Given the description of an element on the screen output the (x, y) to click on. 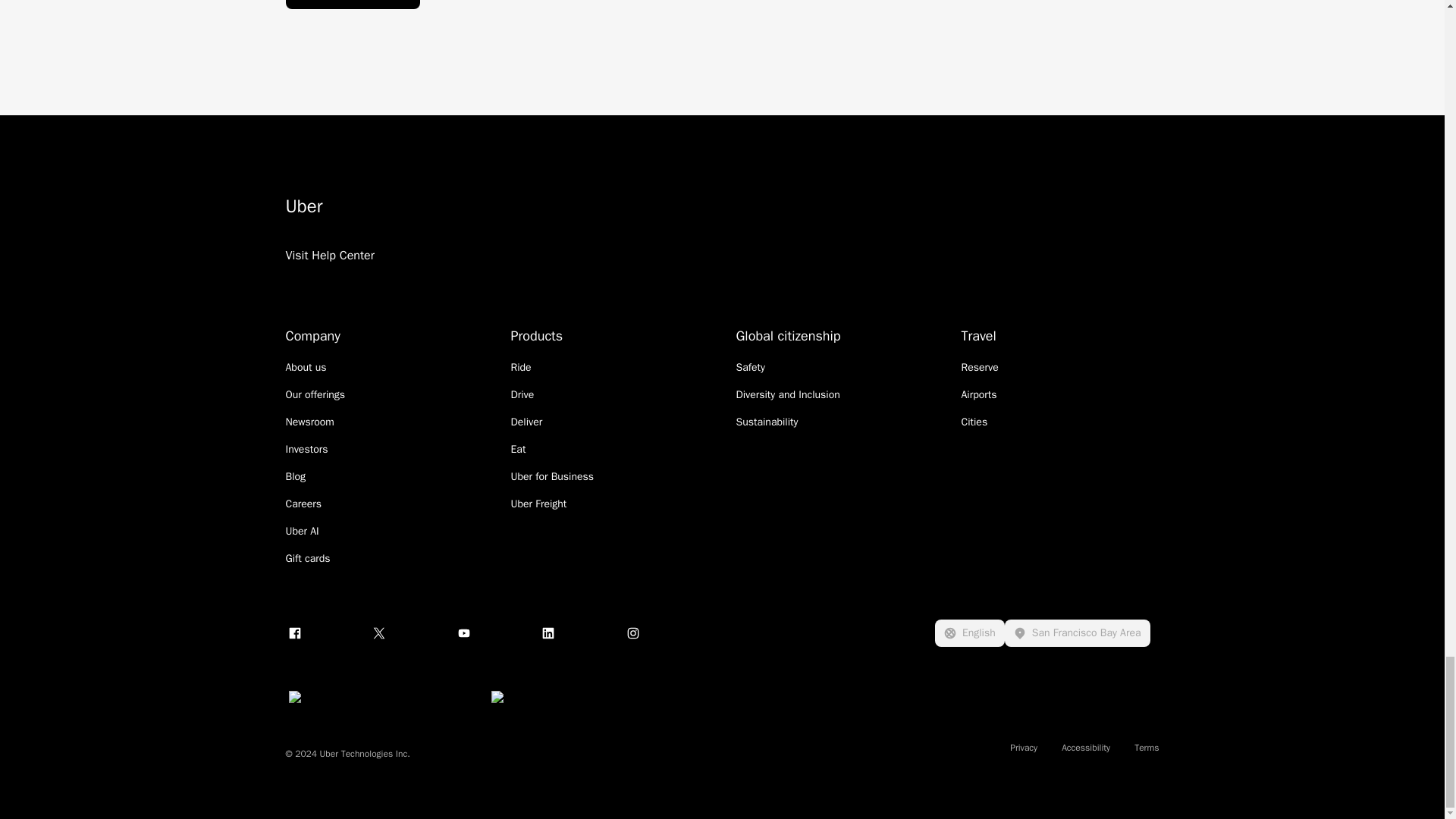
Ride (521, 367)
Eat (518, 449)
Uber Freight (539, 503)
Reserve (979, 367)
Visit Help Center (329, 274)
Uber for Business (552, 476)
Airports (978, 394)
Blog (295, 476)
Search open roles (352, 4)
Drive (522, 394)
Cities (974, 421)
Sustainability (766, 421)
Deliver (527, 421)
Newsroom (309, 421)
Uber AI (301, 531)
